Given the description of an element on the screen output the (x, y) to click on. 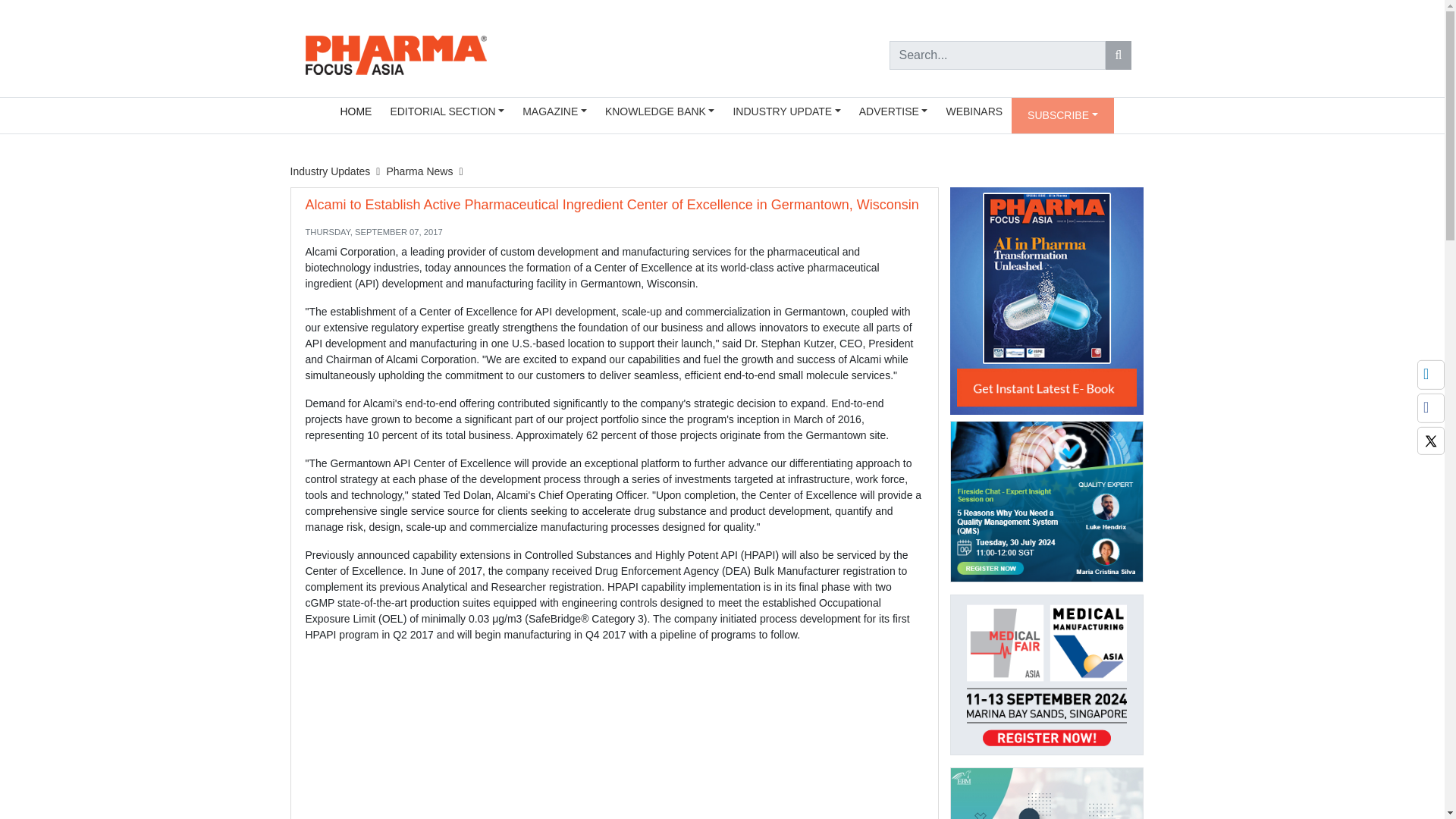
MAGAZINE (554, 111)
4th Annual Cleaning Validation 2024 (1045, 793)
EDITORIAL SECTION (446, 111)
Hexagon - Expert Insights Webinar (1045, 501)
ADVERTISE (893, 111)
Hexagon - Expert Insights Webinar (1045, 506)
INDUSTRY UPDATE (785, 111)
KNOWLEDGE BANK (659, 111)
Pharma Focus Asia (395, 53)
